Given the description of an element on the screen output the (x, y) to click on. 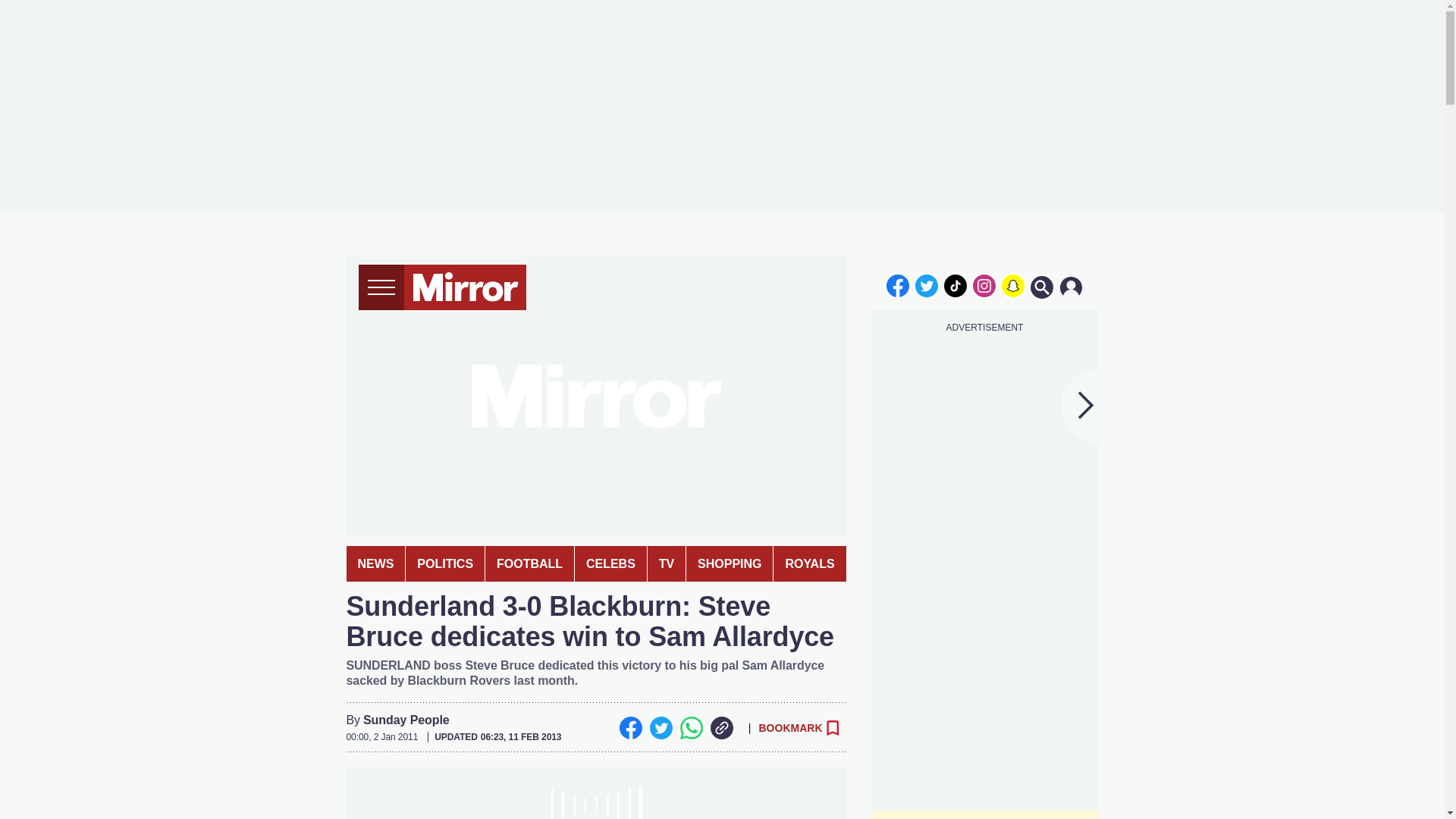
NEWS (375, 563)
POLITICS (445, 563)
instagram (984, 285)
Facebook (630, 727)
Whatsapp (690, 727)
FOOTBALL (528, 563)
CELEBS (610, 563)
facebook (897, 285)
tiktok (955, 285)
snapchat (1012, 285)
